Given the description of an element on the screen output the (x, y) to click on. 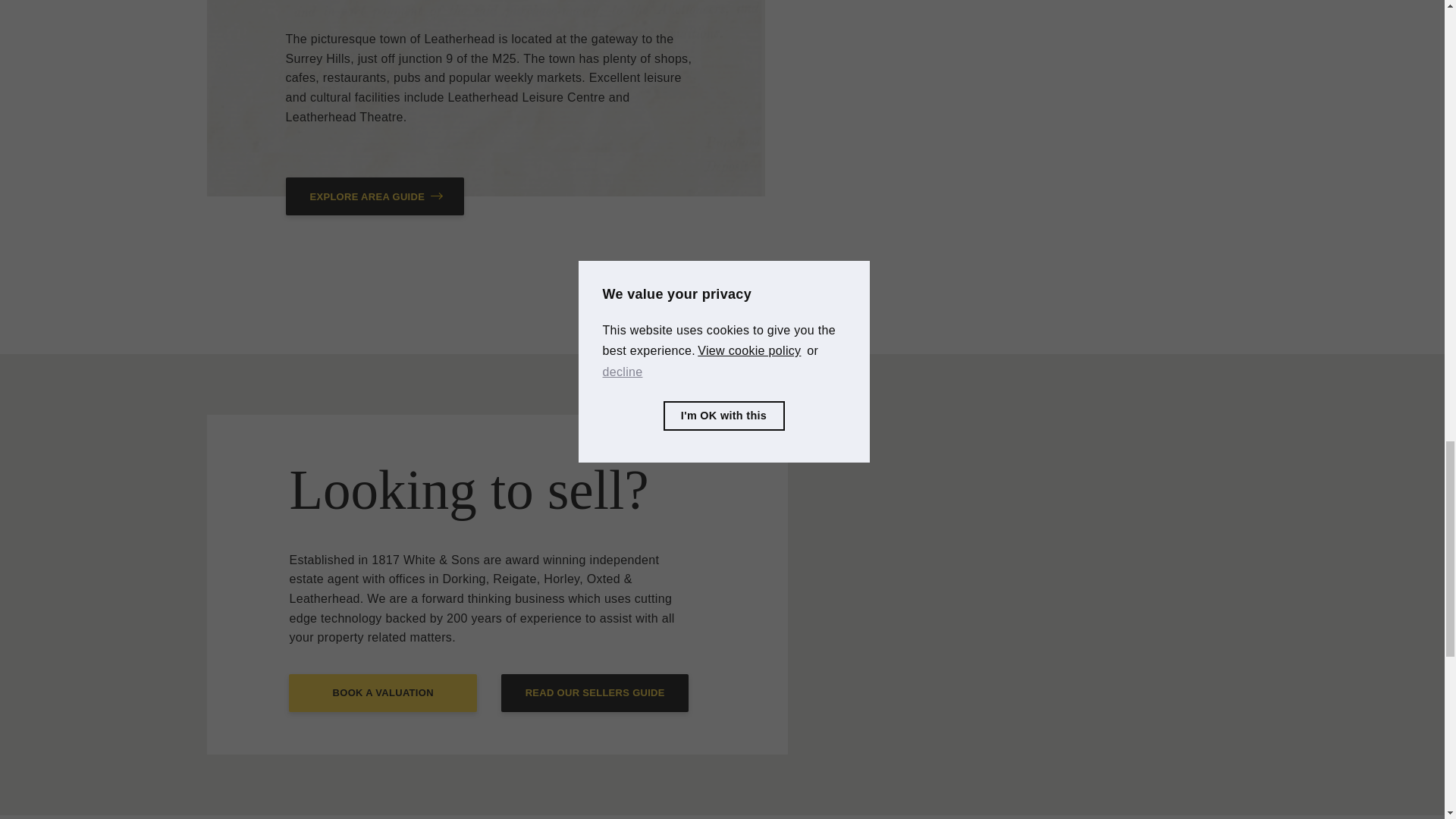
READ OUR SELLERS GUIDE (594, 692)
EXPLORE AREA GUIDE (374, 196)
BOOK A VALUATION (382, 692)
